Given the description of an element on the screen output the (x, y) to click on. 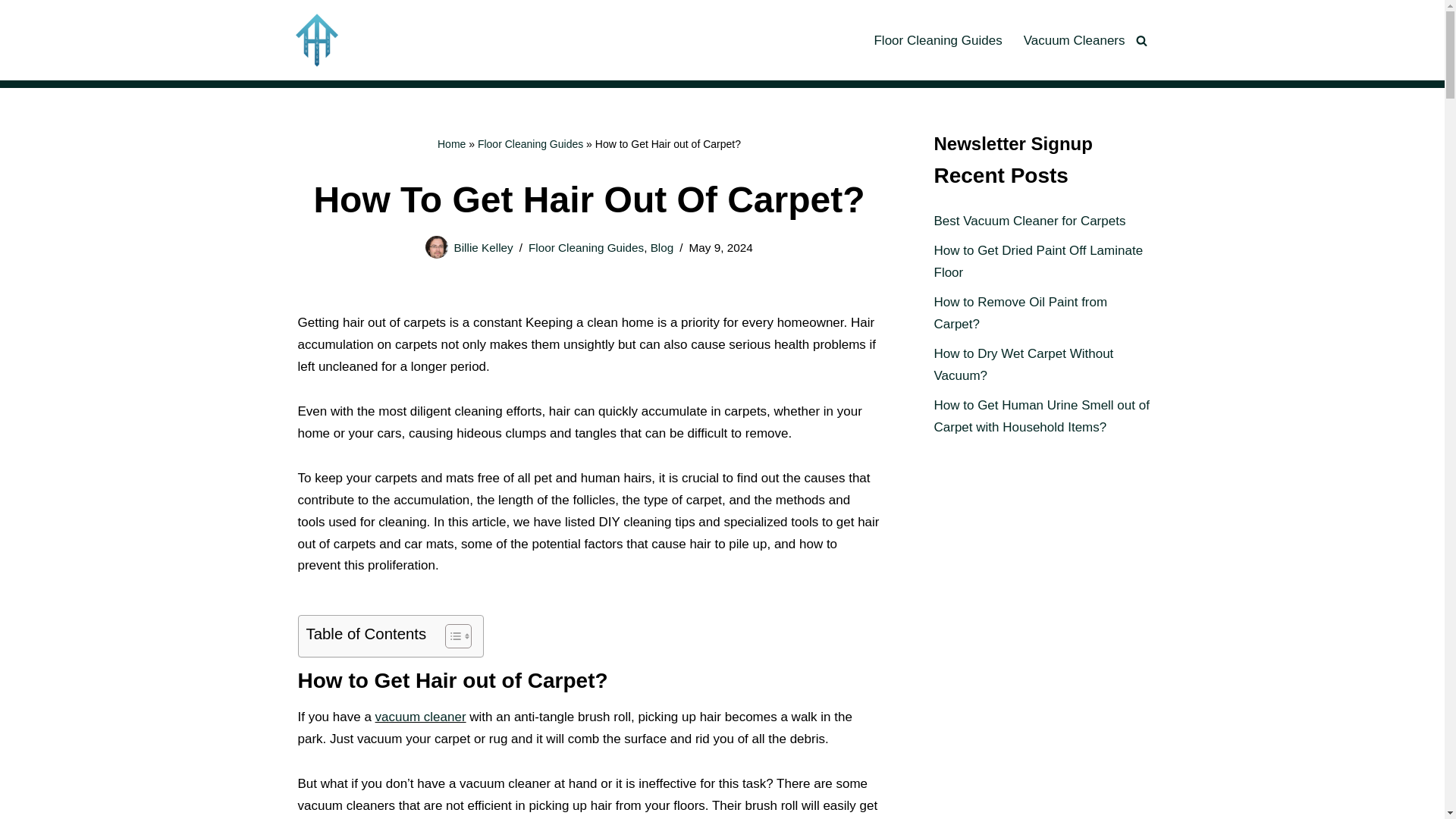
Floor Cleaning Guides (937, 40)
Home (451, 143)
Blog (662, 246)
Vacuum Cleaners (1074, 40)
Floor Cleaning Guides (530, 143)
Posts by Billie Kelley (482, 246)
Floor Cleaning Guides (585, 246)
Skip to content (11, 31)
Billie Kelley (482, 246)
